Given the description of an element on the screen output the (x, y) to click on. 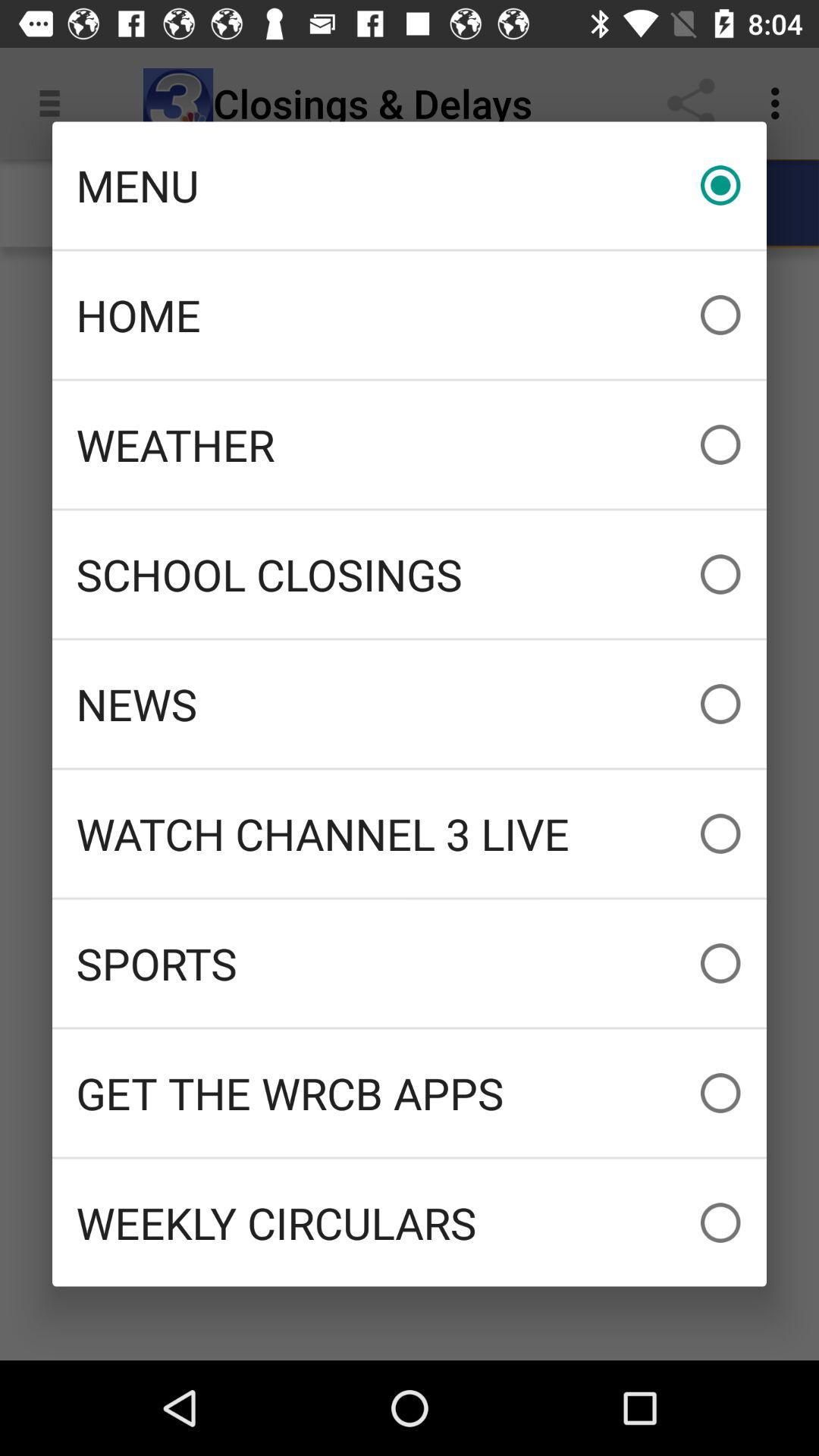
swipe to weather (409, 444)
